Given the description of an element on the screen output the (x, y) to click on. 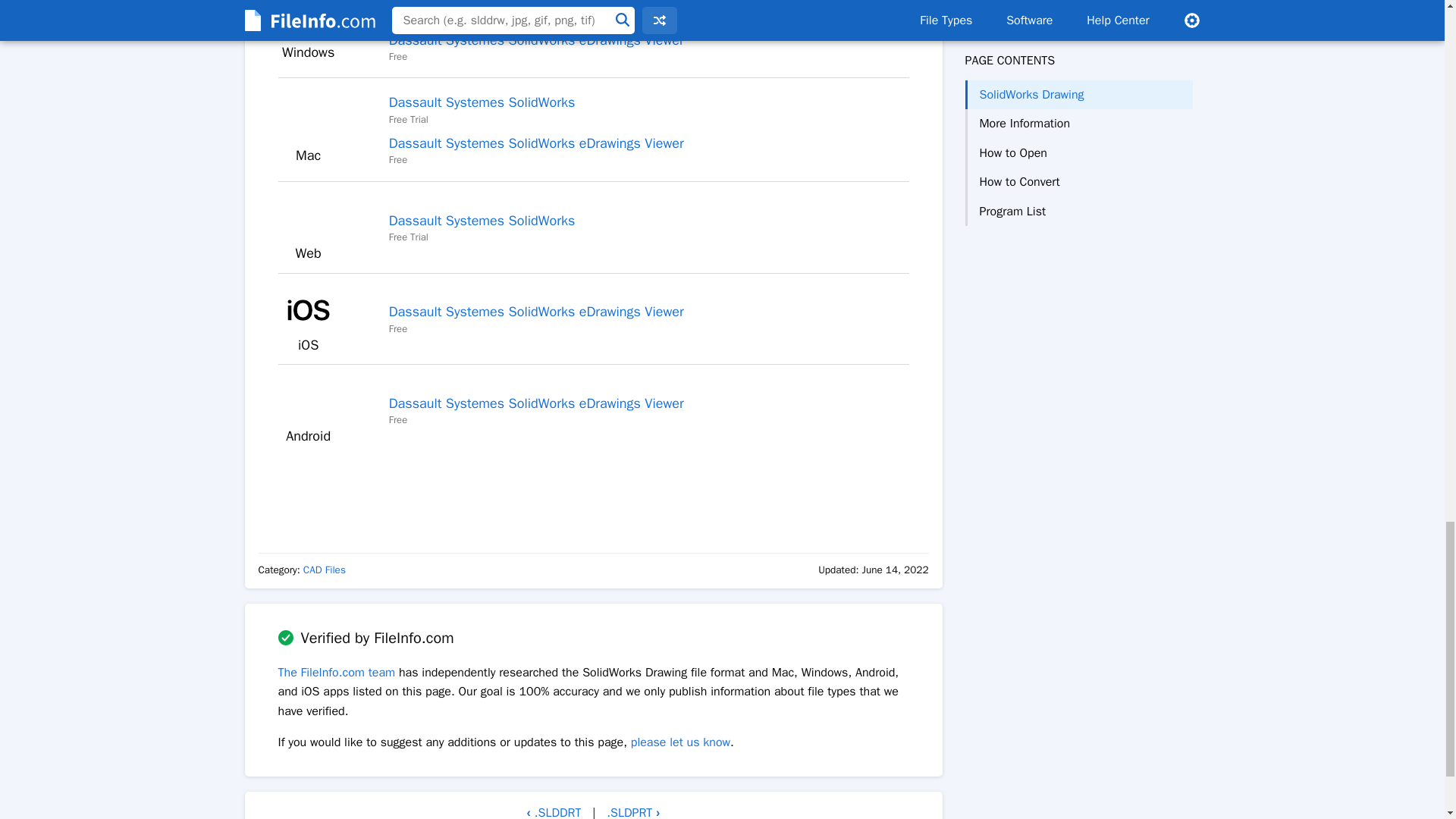
3rd party ad content (592, 493)
